Given the description of an element on the screen output the (x, y) to click on. 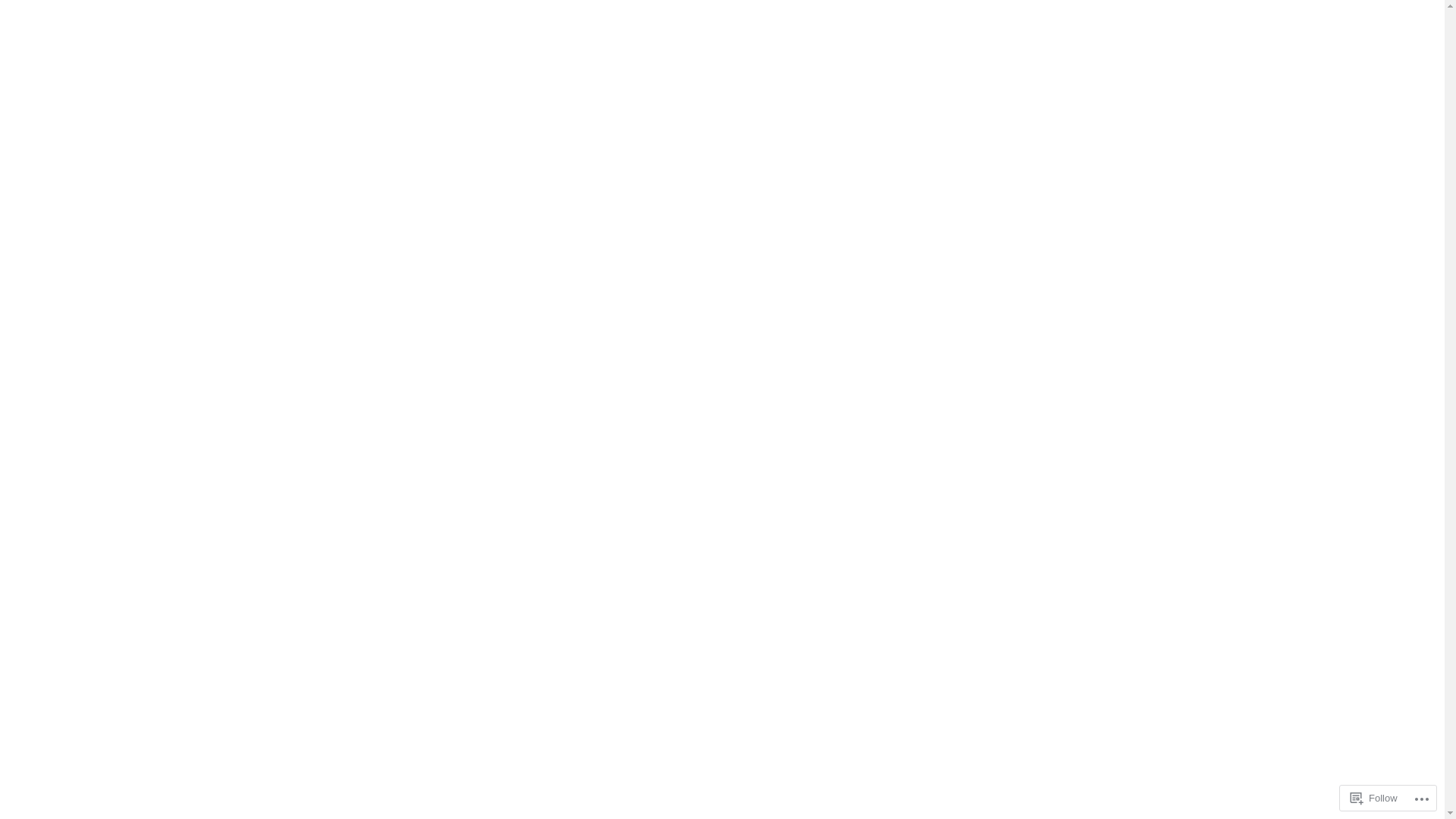
Follow Element type: text (1373, 797)
